Given the description of an element on the screen output the (x, y) to click on. 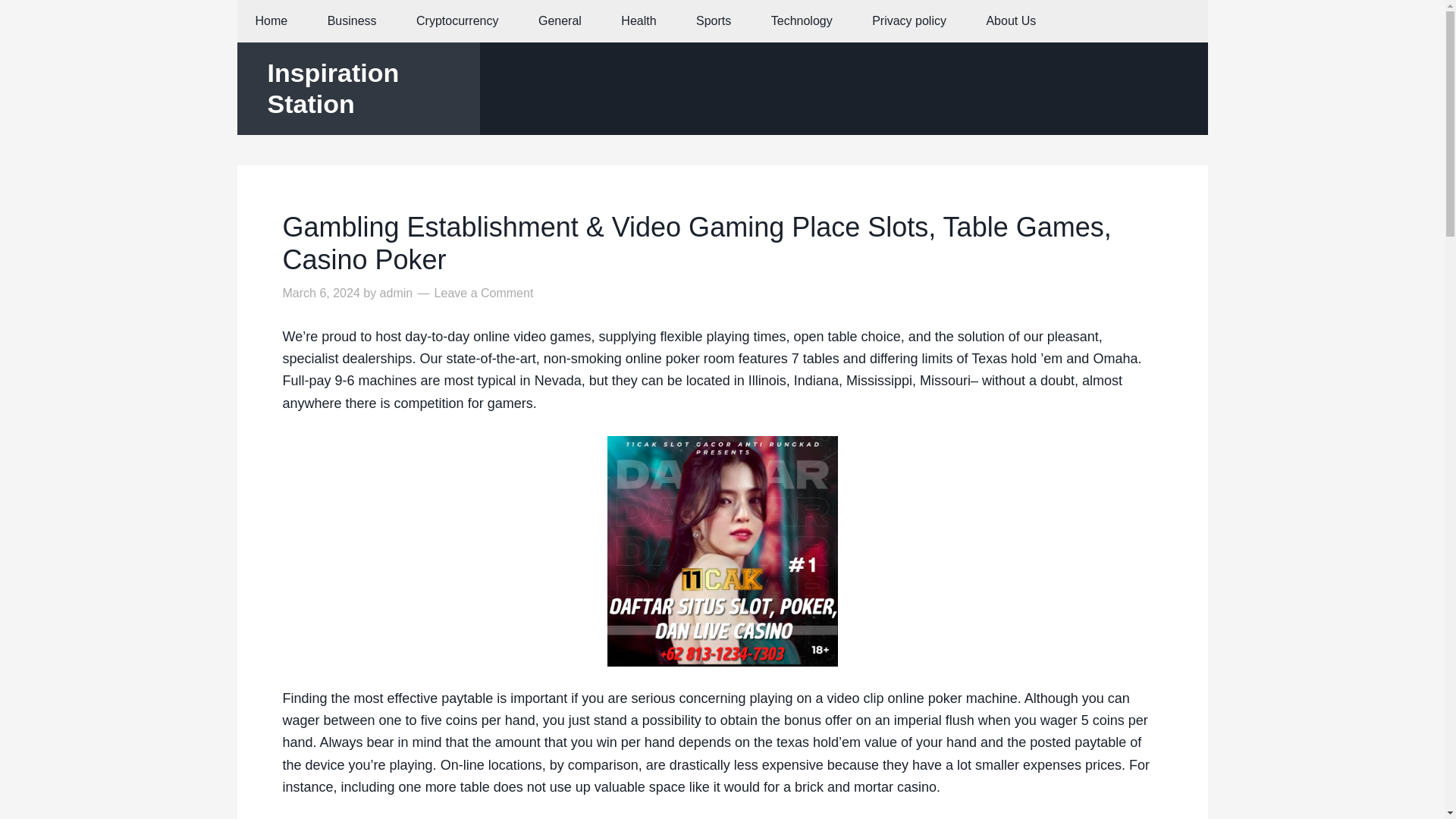
General (559, 21)
Sports (713, 21)
Cryptocurrency (456, 21)
Business (351, 21)
Inspiration Station (332, 87)
About Us (1011, 21)
admin (396, 292)
Health (638, 21)
Home (270, 21)
Privacy policy (908, 21)
Technology (801, 21)
Leave a Comment (483, 292)
